Given the description of an element on the screen output the (x, y) to click on. 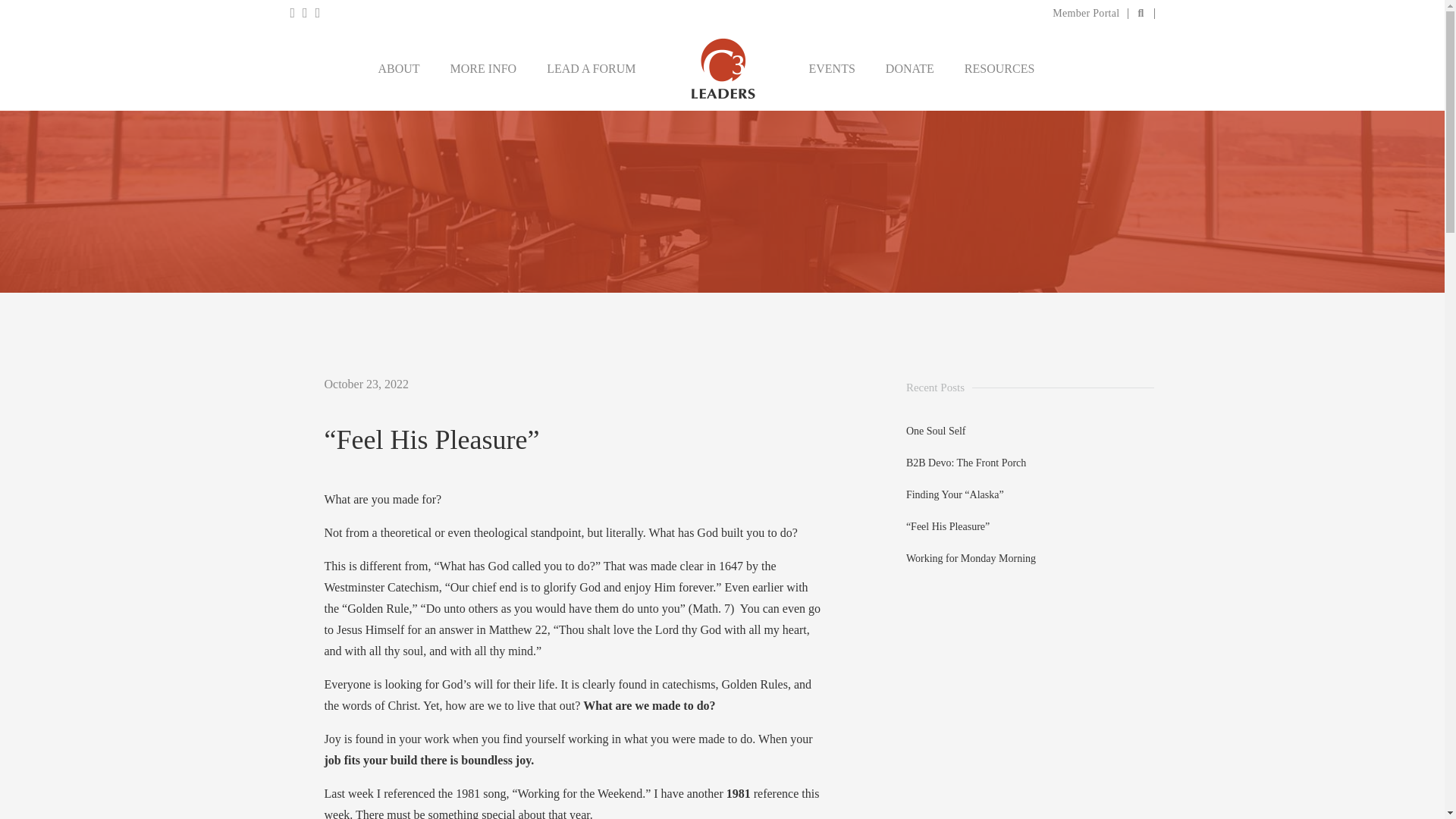
RESOURCES (998, 68)
DONATE (909, 68)
MORE INFO (482, 68)
EVENTS (831, 68)
ABOUT (398, 68)
October 23, 2022 (366, 383)
LEAD A FORUM (590, 68)
One Soul Self (935, 430)
Member Portal (1085, 12)
B2B Devo: The Front Porch (965, 462)
